Given the description of an element on the screen output the (x, y) to click on. 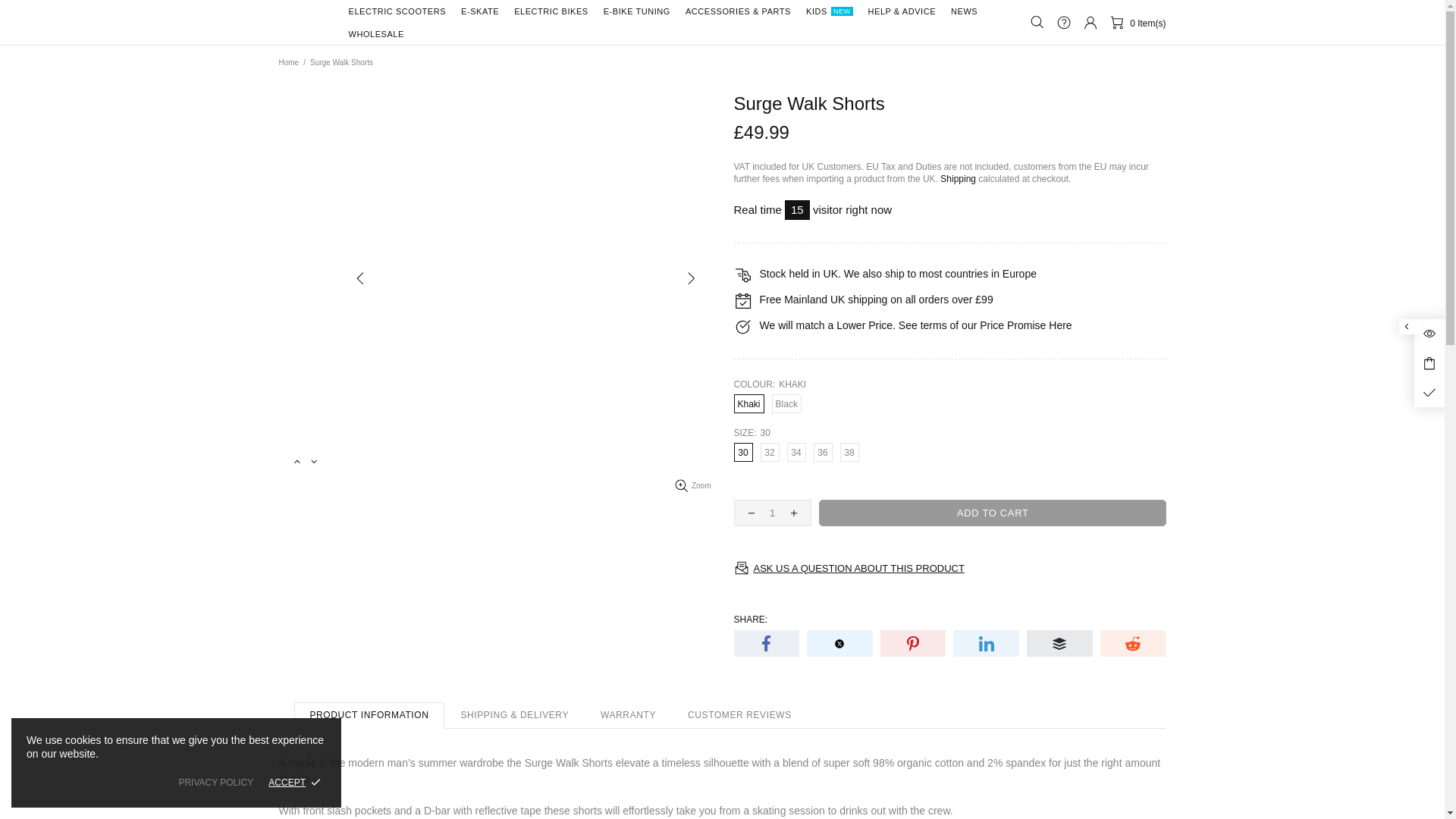
Price Match Promise (1059, 325)
ELECTRIC SCOOTERS (397, 11)
1 (771, 512)
Beyond PEV (304, 22)
